Given the description of an element on the screen output the (x, y) to click on. 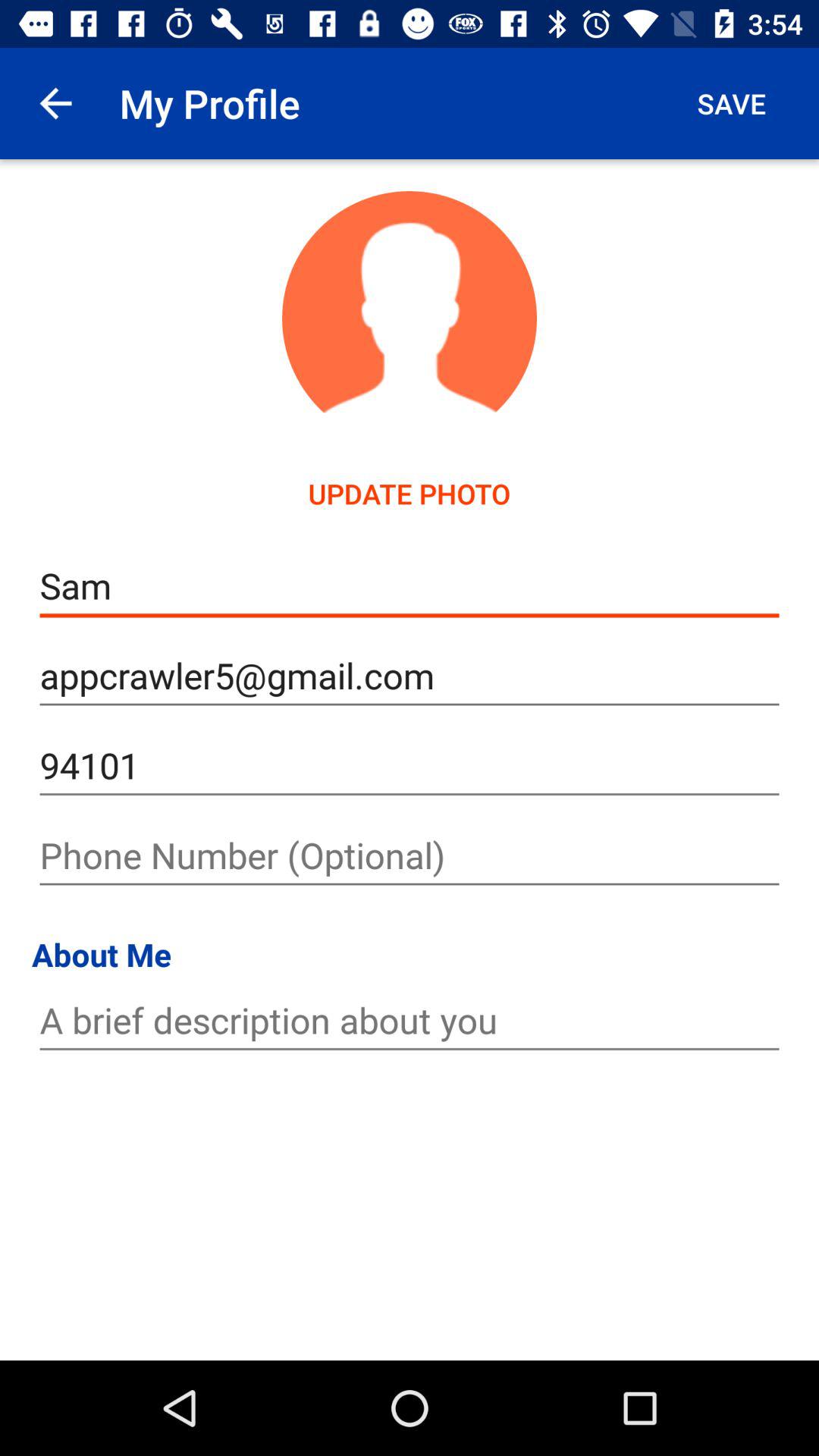
flip to the save item (731, 103)
